Given the description of an element on the screen output the (x, y) to click on. 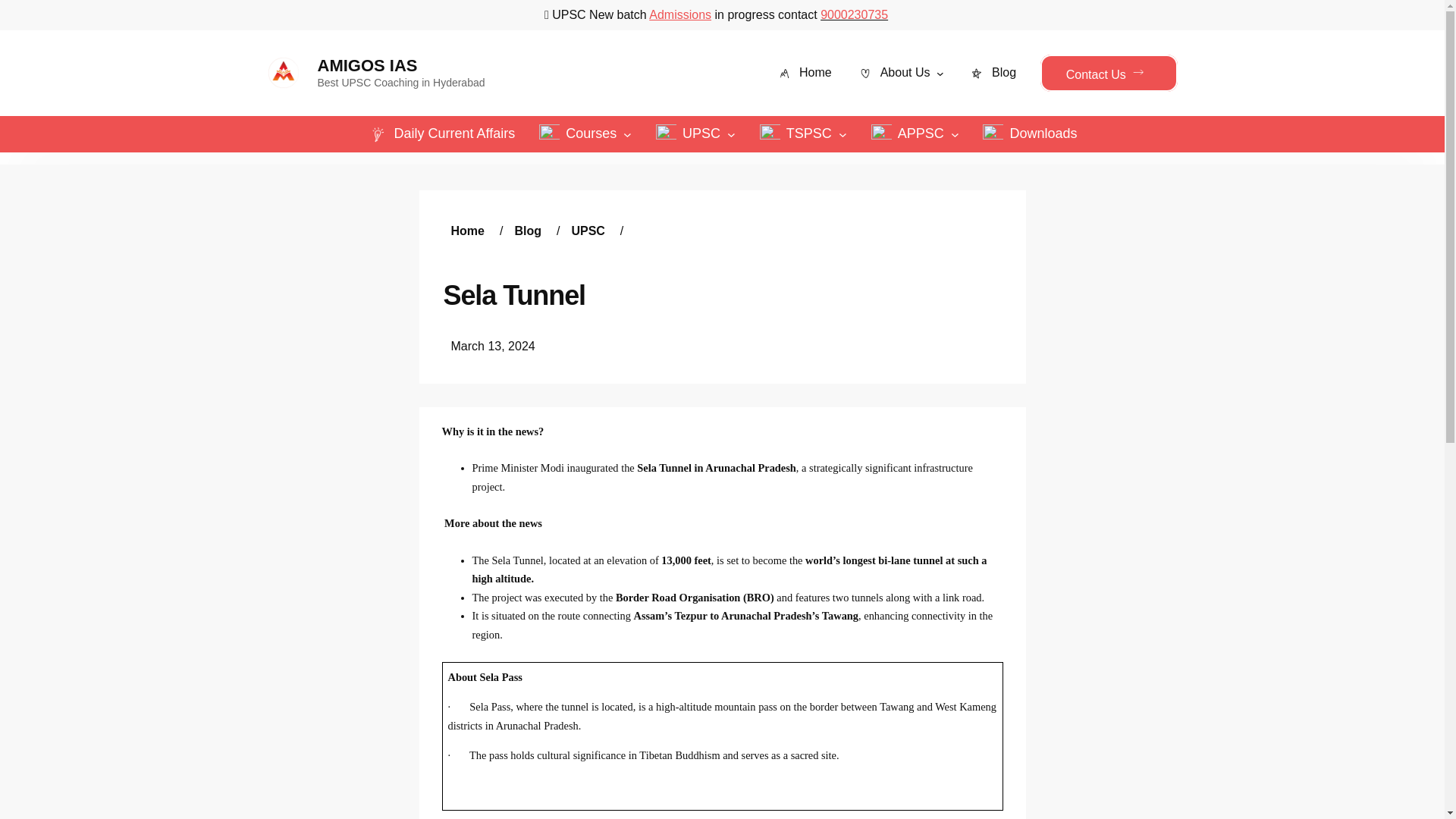
Contact Us (1108, 72)
TSPSC (795, 133)
UPSC (688, 133)
Courses (576, 133)
Home (802, 72)
About Us (893, 72)
Admissions (680, 14)
Daily Current Affairs (440, 133)
AMIGOS IAS (366, 65)
Blog (992, 72)
